Given the description of an element on the screen output the (x, y) to click on. 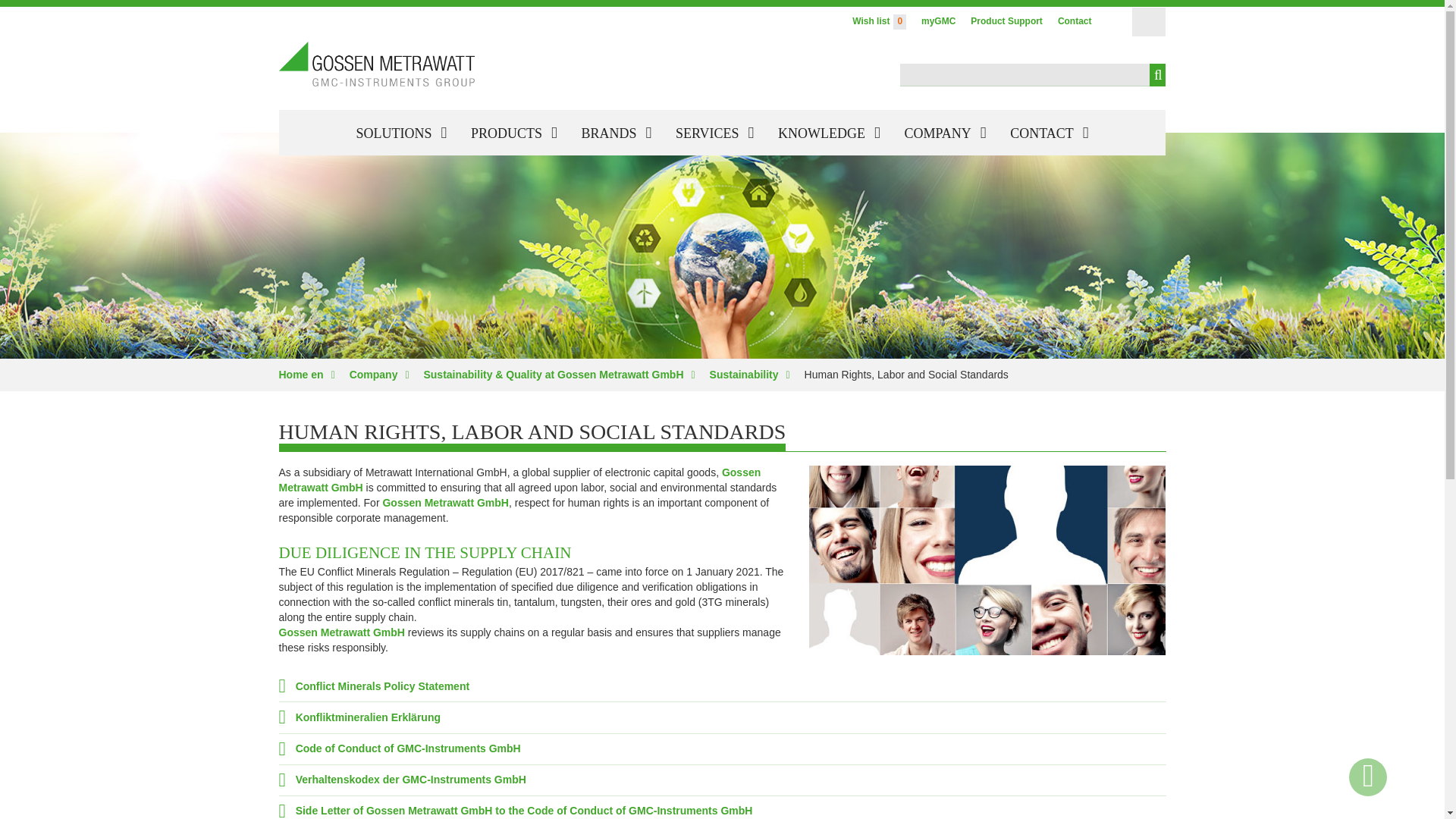
PRODUCTS (513, 132)
Product Support (1005, 21)
myGMC (938, 21)
SOLUTIONS (402, 132)
Contact (1074, 21)
Code of Conduct of GMC-Instruments GmbH (400, 748)
Verhaltenskodex der GMC-Instruments GmbH (402, 779)
